Given the description of an element on the screen output the (x, y) to click on. 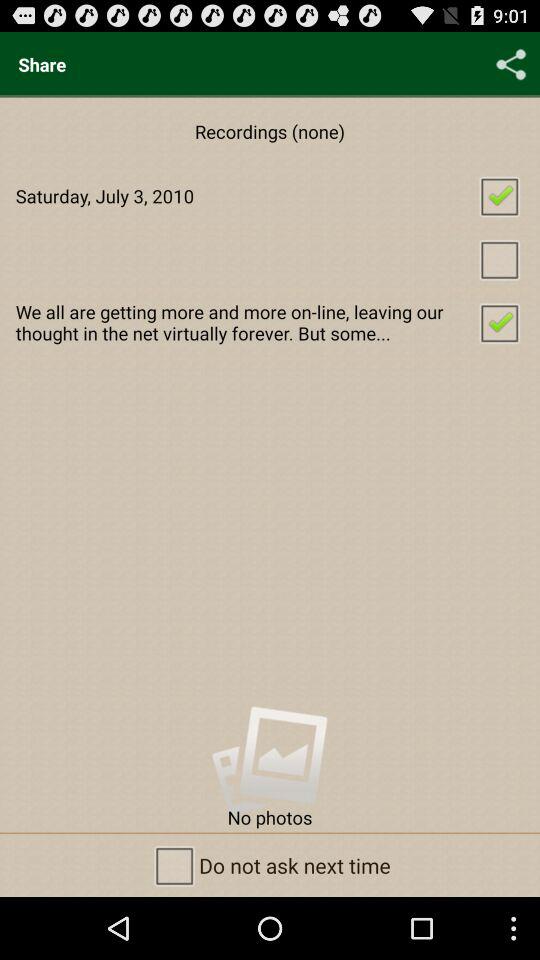
open the icon above saturday july 3 checkbox (511, 63)
